Given the description of an element on the screen output the (x, y) to click on. 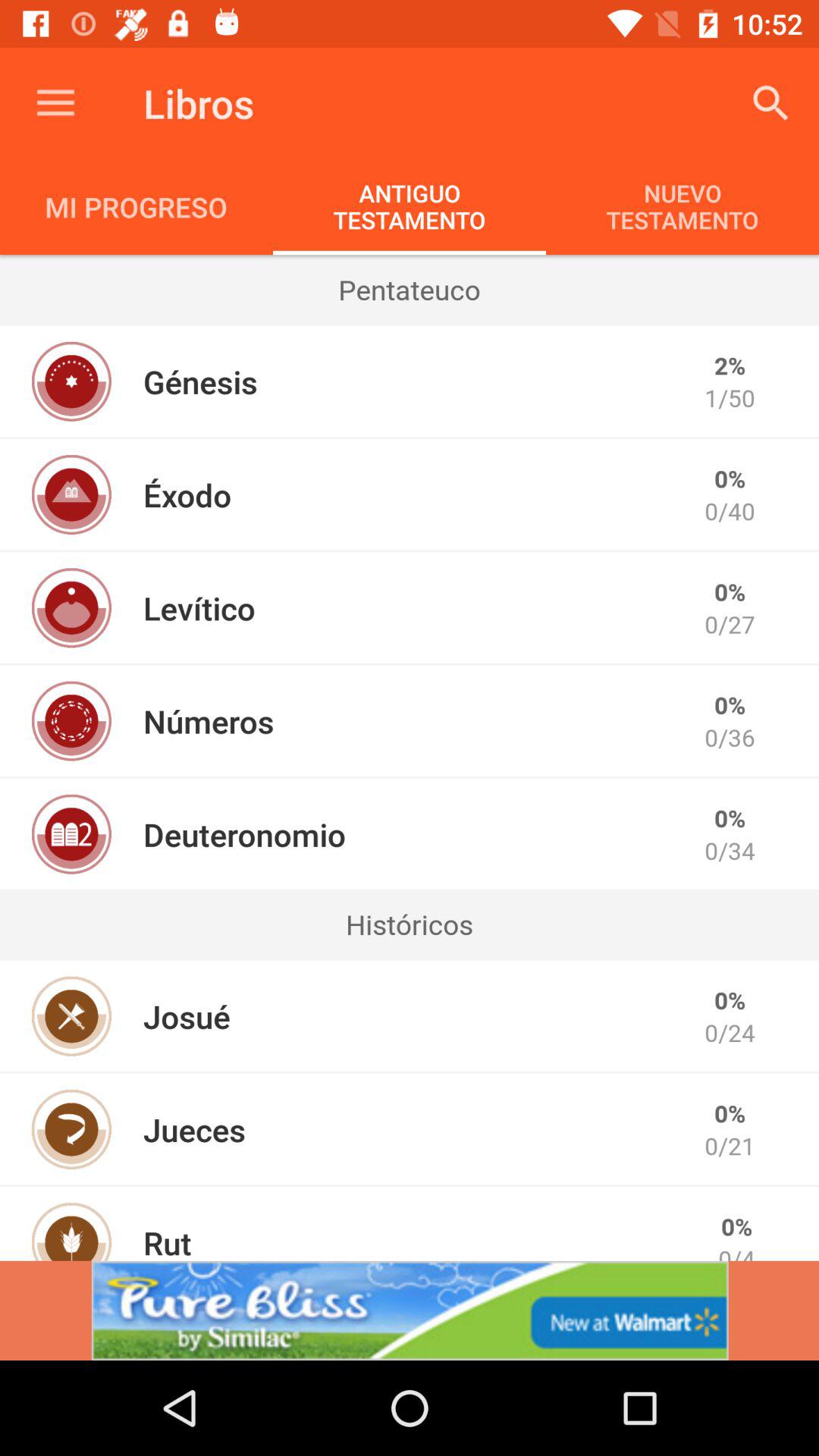
launch icon next to the 0/4 (167, 1240)
